Given the description of an element on the screen output the (x, y) to click on. 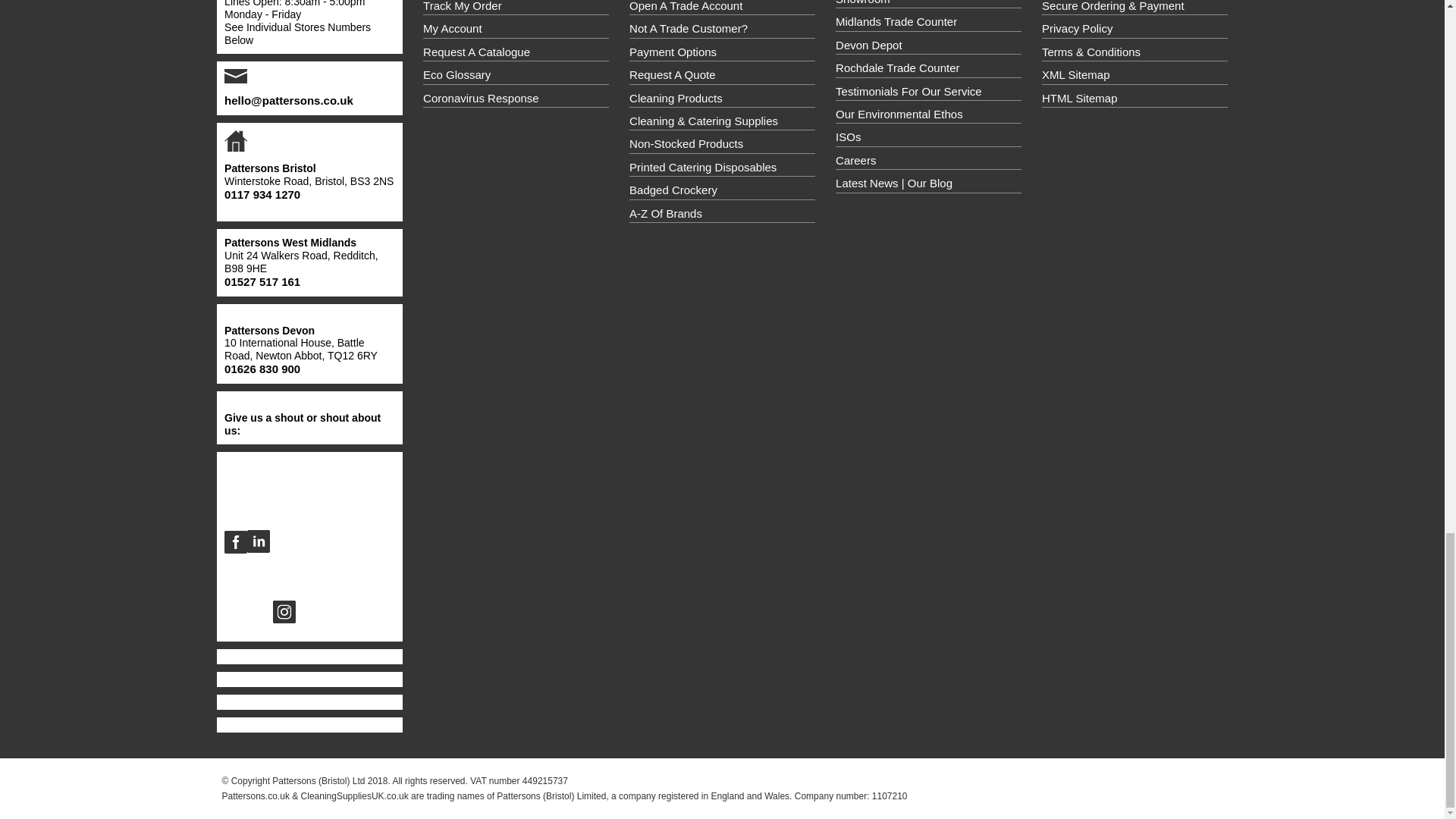
Call Pattersons West Midlands (261, 282)
Say Hello (288, 100)
Track My Order (515, 7)
Call Pattersons Bristol (261, 194)
Understand The Buzz Words In Eco Supplies (515, 74)
01626 830 900 (261, 368)
Request Our Catalogues (515, 51)
Coronavirus Response (515, 97)
